Given the description of an element on the screen output the (x, y) to click on. 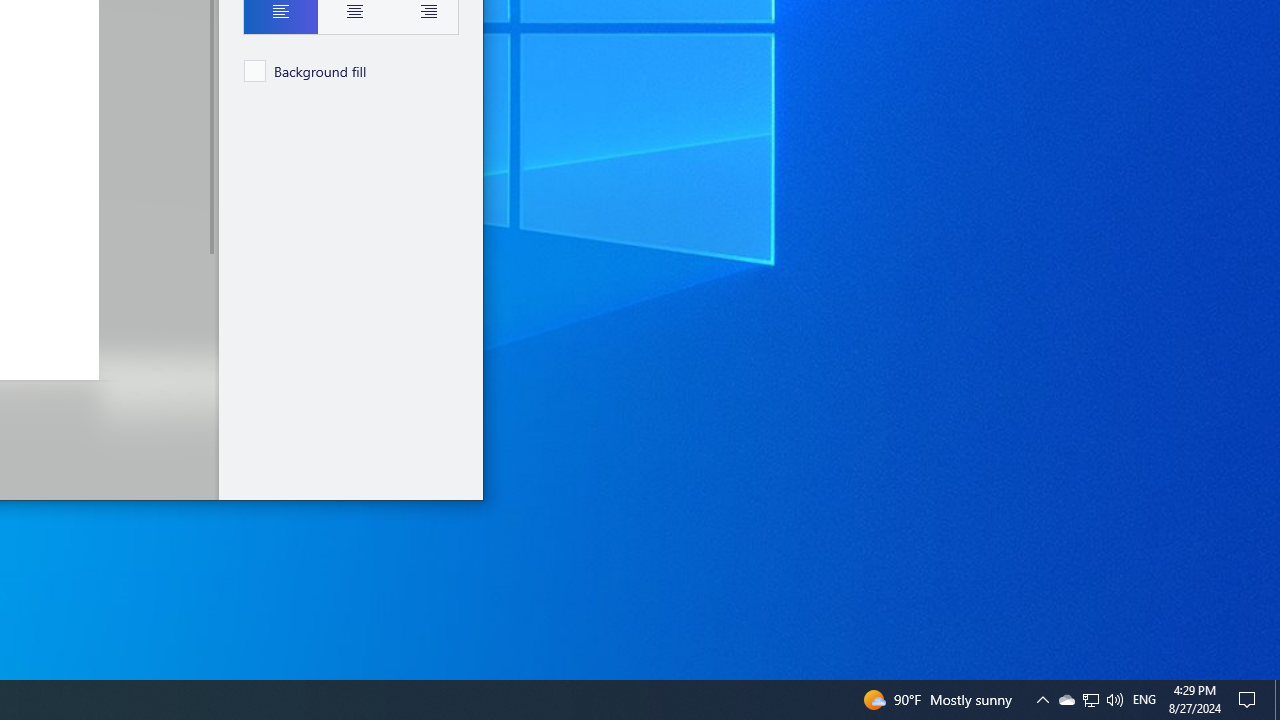
Vertical Large Increase (210, 369)
Background fill (305, 70)
